Given the description of an element on the screen output the (x, y) to click on. 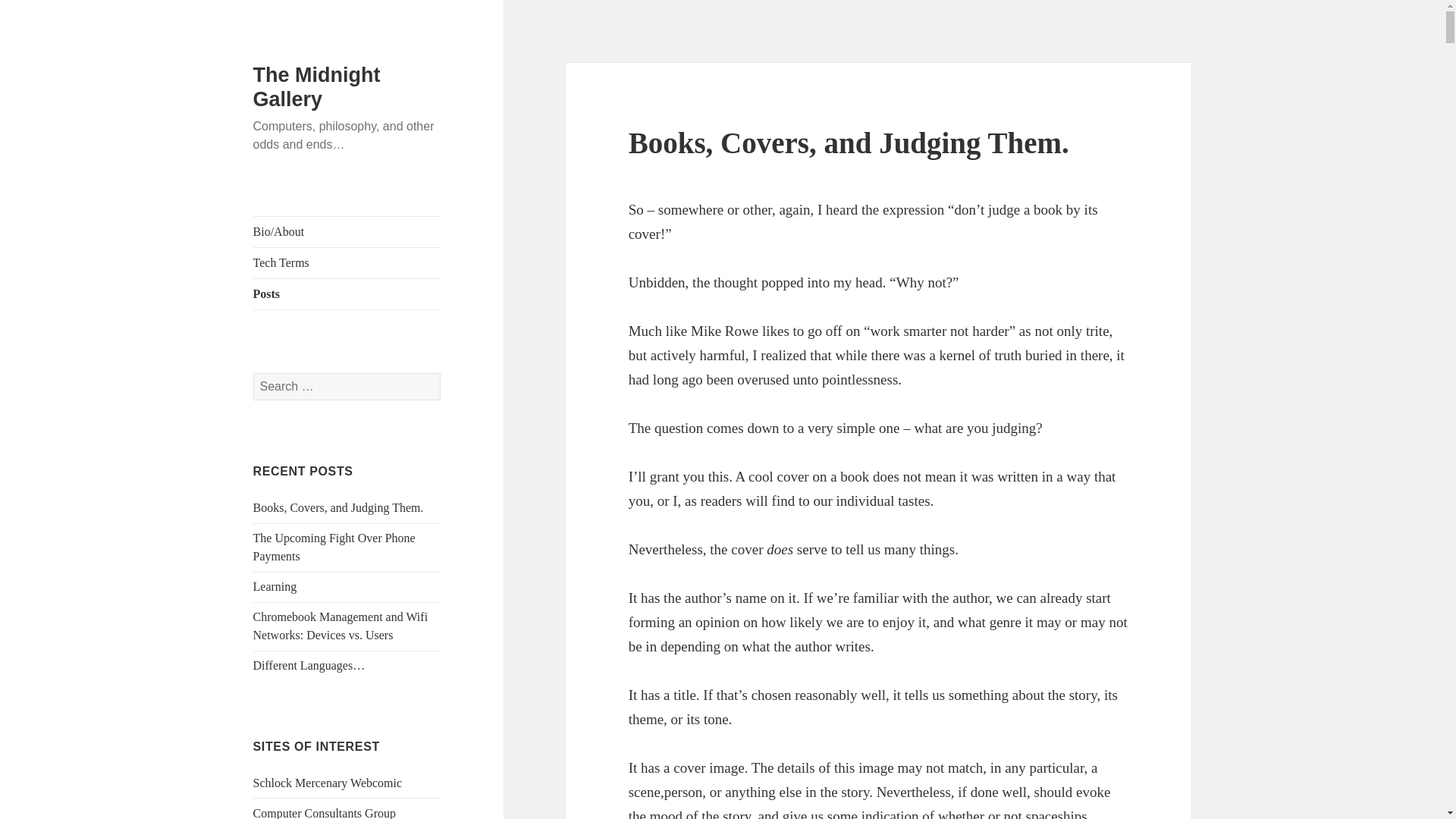
Books, Covers, and Judging Them. (338, 507)
Tech Terms (347, 263)
Chromebook Management and Wifi Networks: Devices vs. Users (340, 625)
Posts (347, 294)
The Midnight Gallery (316, 86)
Computer Consultants Group (324, 812)
Learning (275, 585)
Schlock Mercenary Webcomic (328, 782)
The Upcoming Fight Over Phone Payments (333, 546)
